Given the description of an element on the screen output the (x, y) to click on. 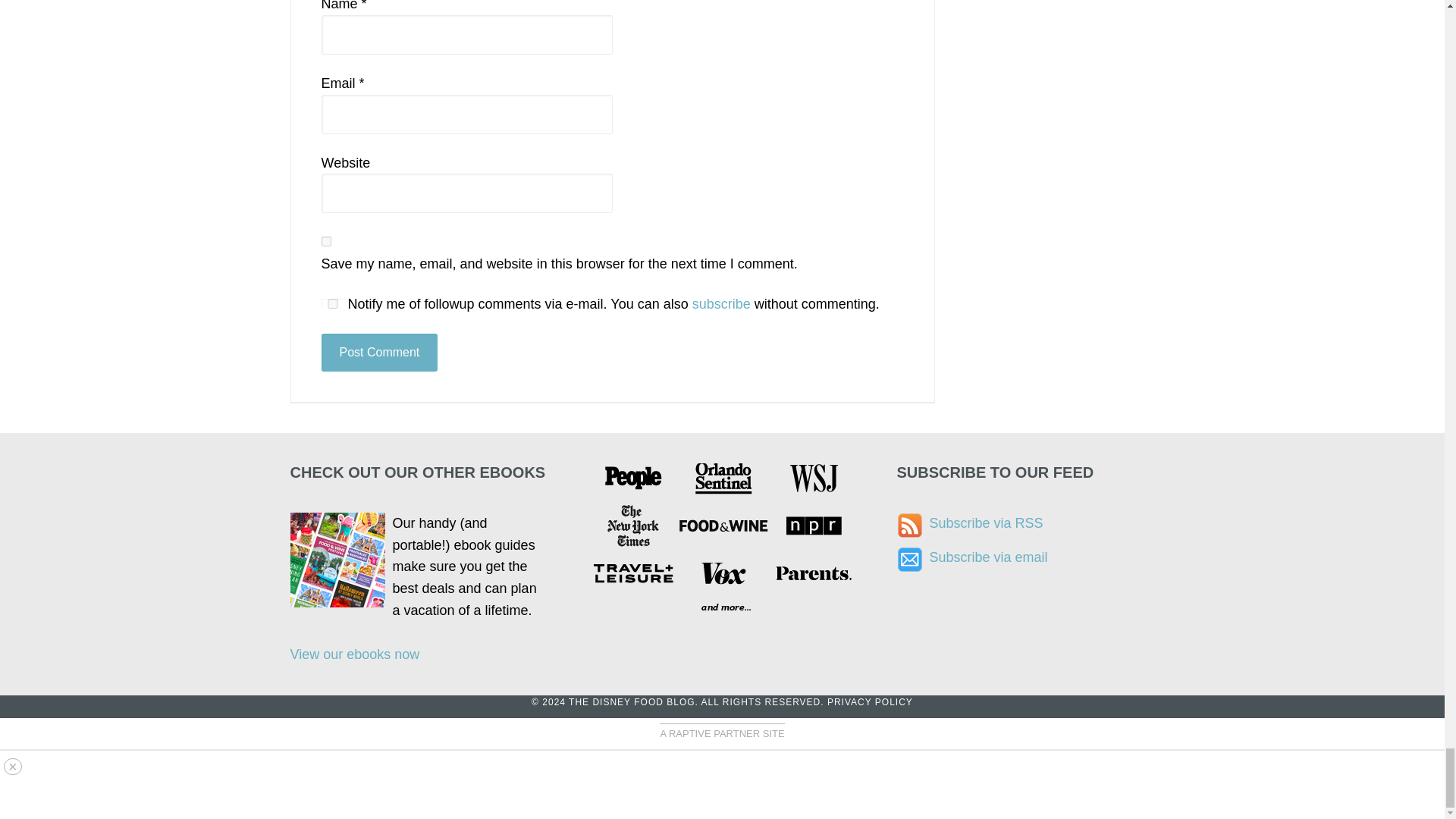
yes (332, 303)
Post Comment (379, 352)
yes (326, 241)
